Given the description of an element on the screen output the (x, y) to click on. 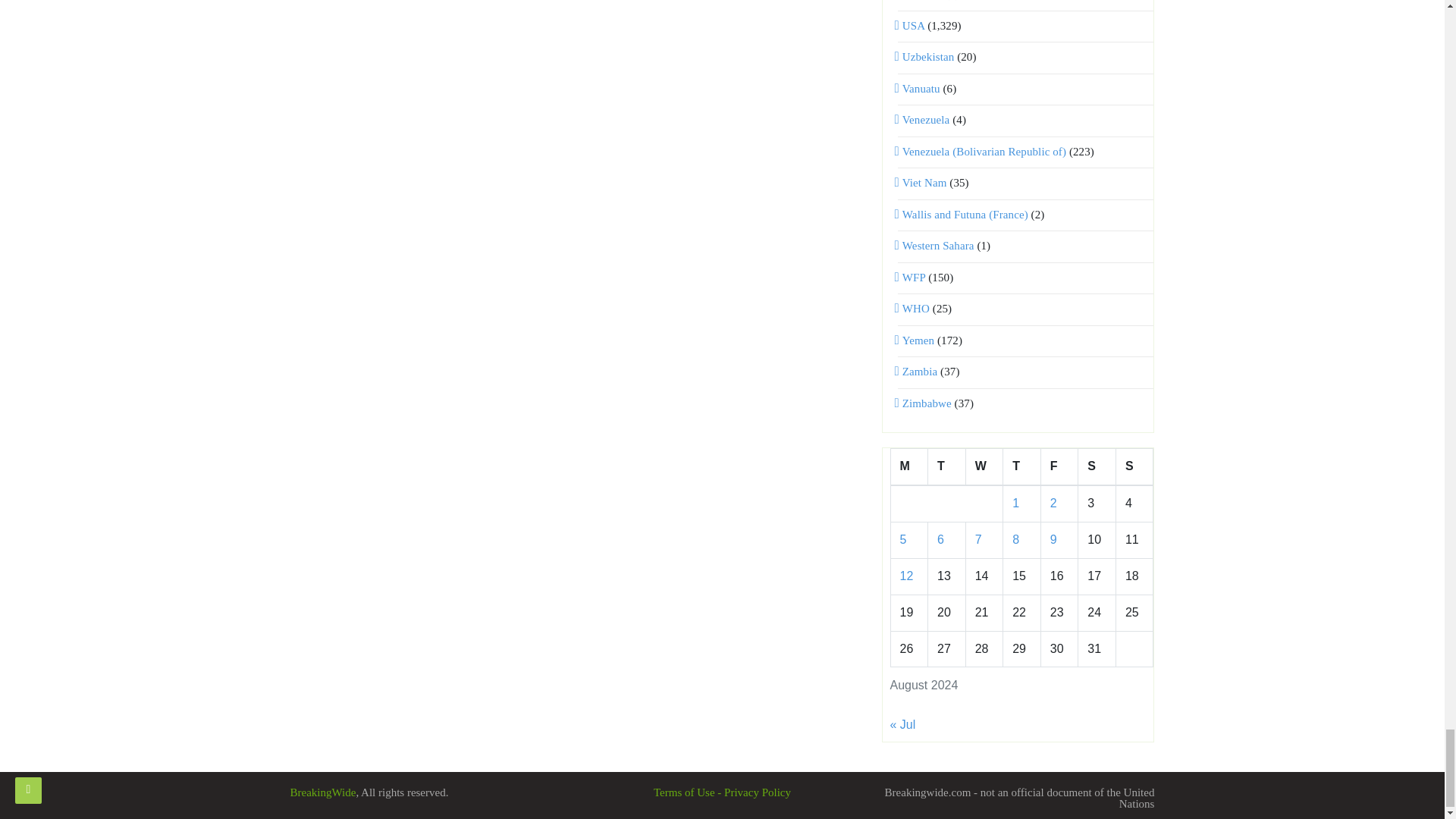
Friday (1059, 466)
Tuesday (947, 466)
Wednesday (984, 466)
Sunday (1134, 466)
Saturday (1097, 466)
Thursday (1022, 466)
Monday (908, 466)
